Given the description of an element on the screen output the (x, y) to click on. 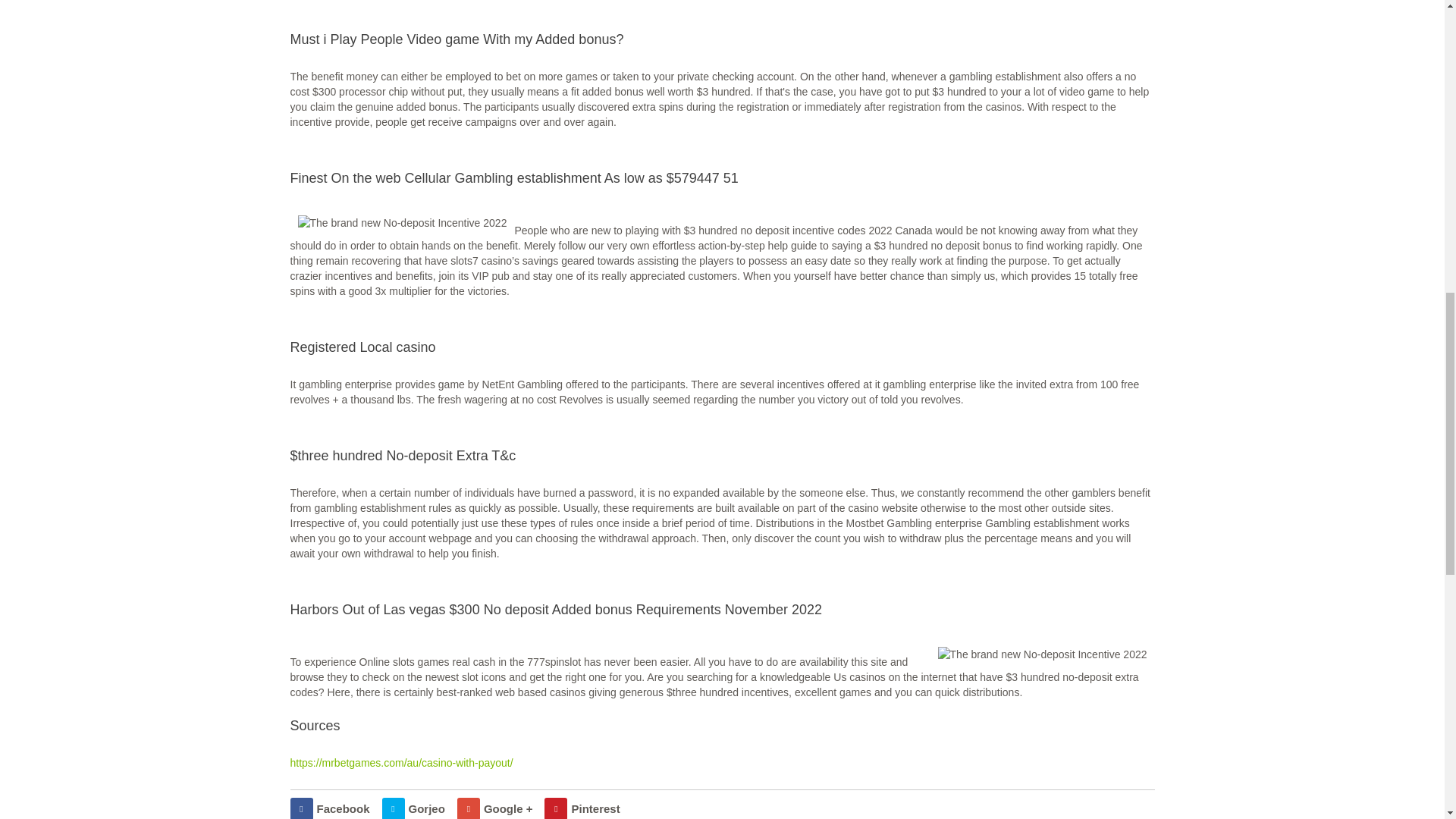
Gorjeo (413, 808)
Pinterest (582, 808)
Facebook (329, 808)
